Given the description of an element on the screen output the (x, y) to click on. 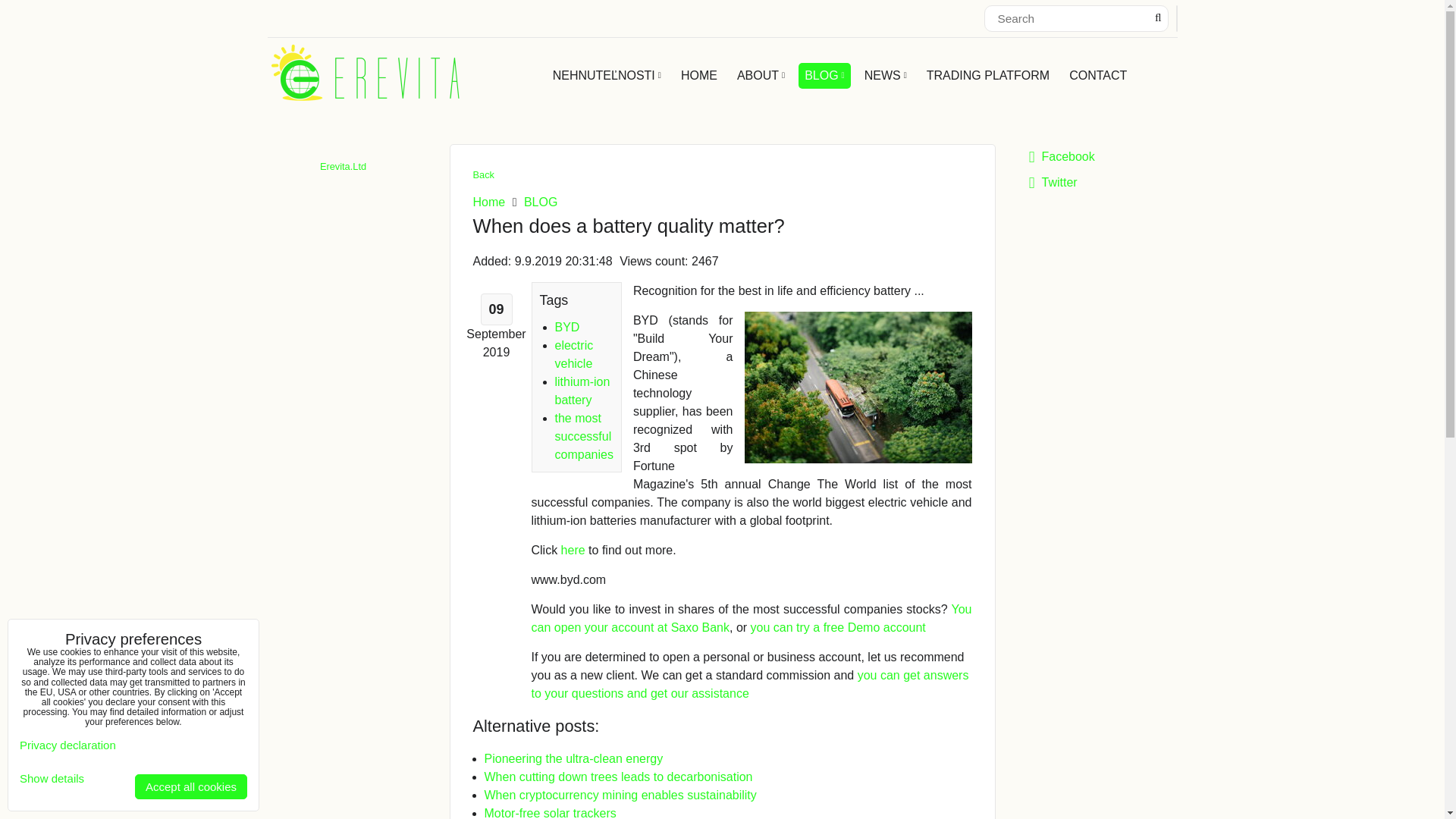
Pioneering the ultra-clean energy (572, 758)
pvEurope News on BYD B-Box HV (572, 549)
the most successful companies (583, 435)
TRADING PLATFORM (987, 75)
HOME (699, 75)
here (572, 549)
you can try a free Demo account (838, 626)
electric vehicle (574, 353)
BYD (566, 326)
Back (484, 174)
ABOUT (760, 75)
When cryptocurrency mining enables sustainability (619, 794)
BLOG (540, 201)
BLOG (823, 75)
When cutting down trees leads to decarbonisation (617, 776)
